Given the description of an element on the screen output the (x, y) to click on. 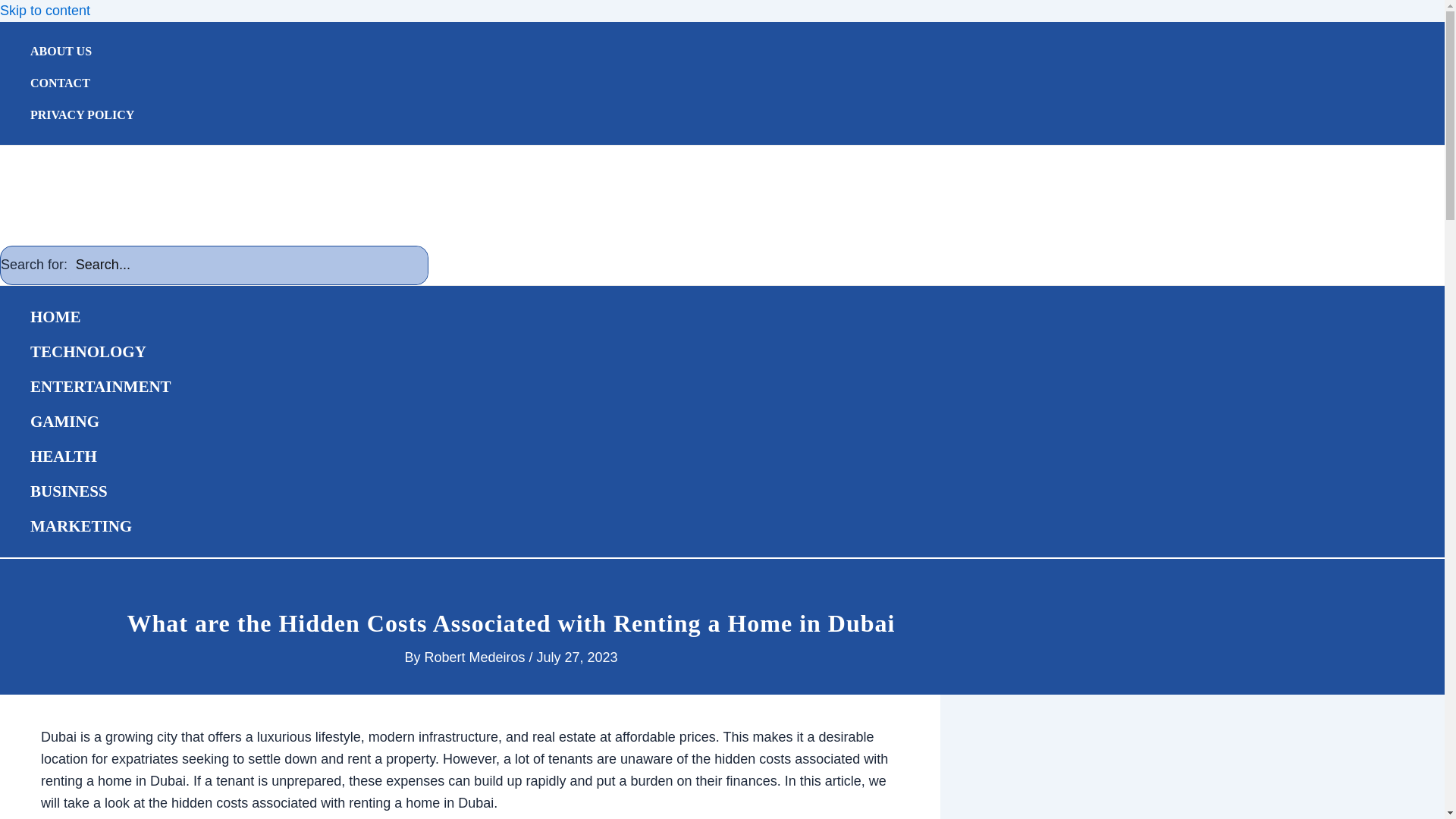
Robert Medeiros (475, 657)
MARKETING (100, 525)
GAMING (100, 421)
PRIVACY POLICY (81, 115)
Skip to content (45, 10)
CONTACT (81, 83)
View all posts by Robert Medeiros (475, 657)
HOME (100, 316)
BUSINESS (100, 491)
ENTERTAINMENT (100, 386)
